Given the description of an element on the screen output the (x, y) to click on. 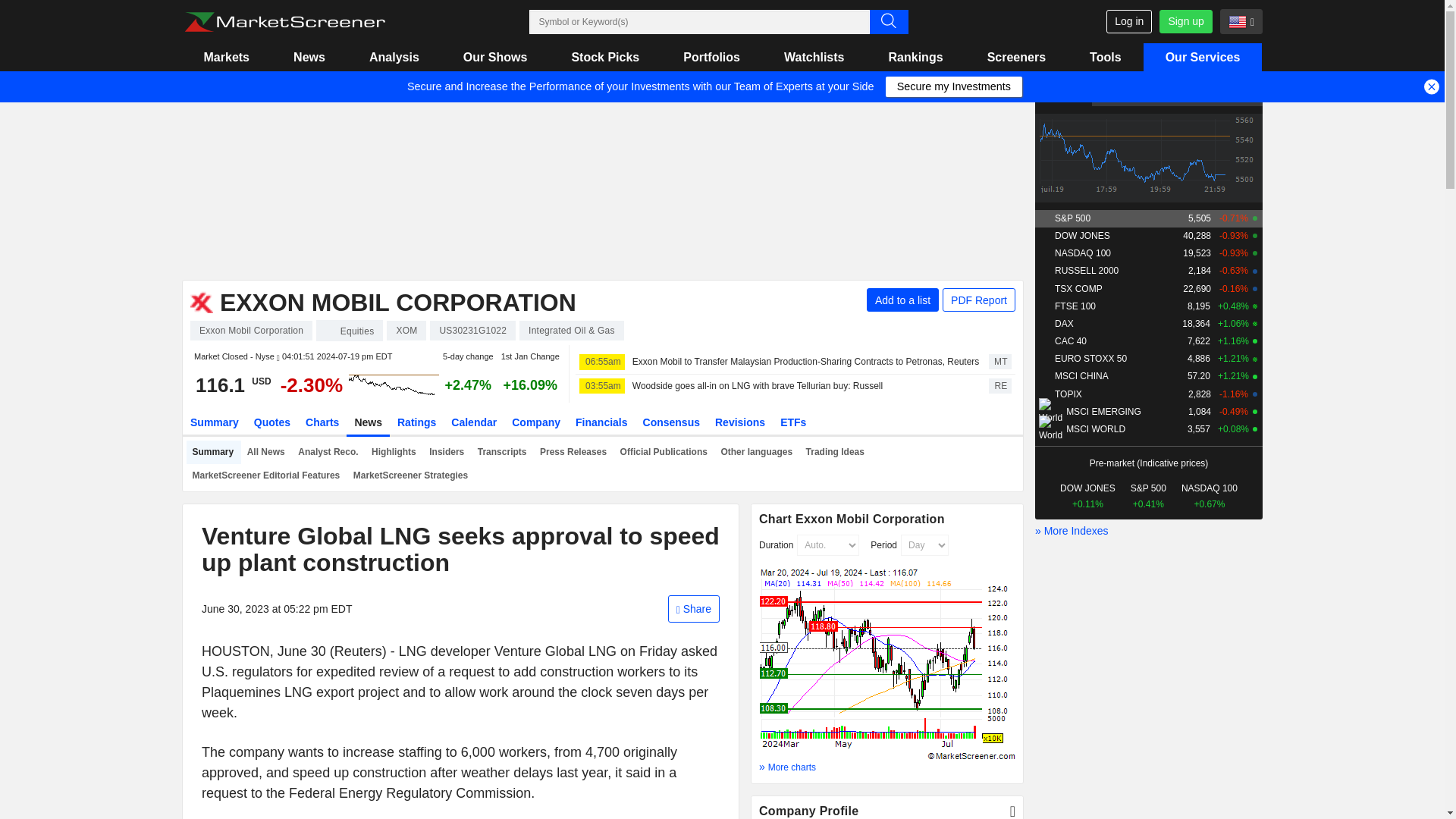
Marketscreener: stock market and financial news (284, 21)
Advanced search (888, 21)
Sign up (1184, 21)
Log in (1128, 21)
Markets (226, 57)
